Given the description of an element on the screen output the (x, y) to click on. 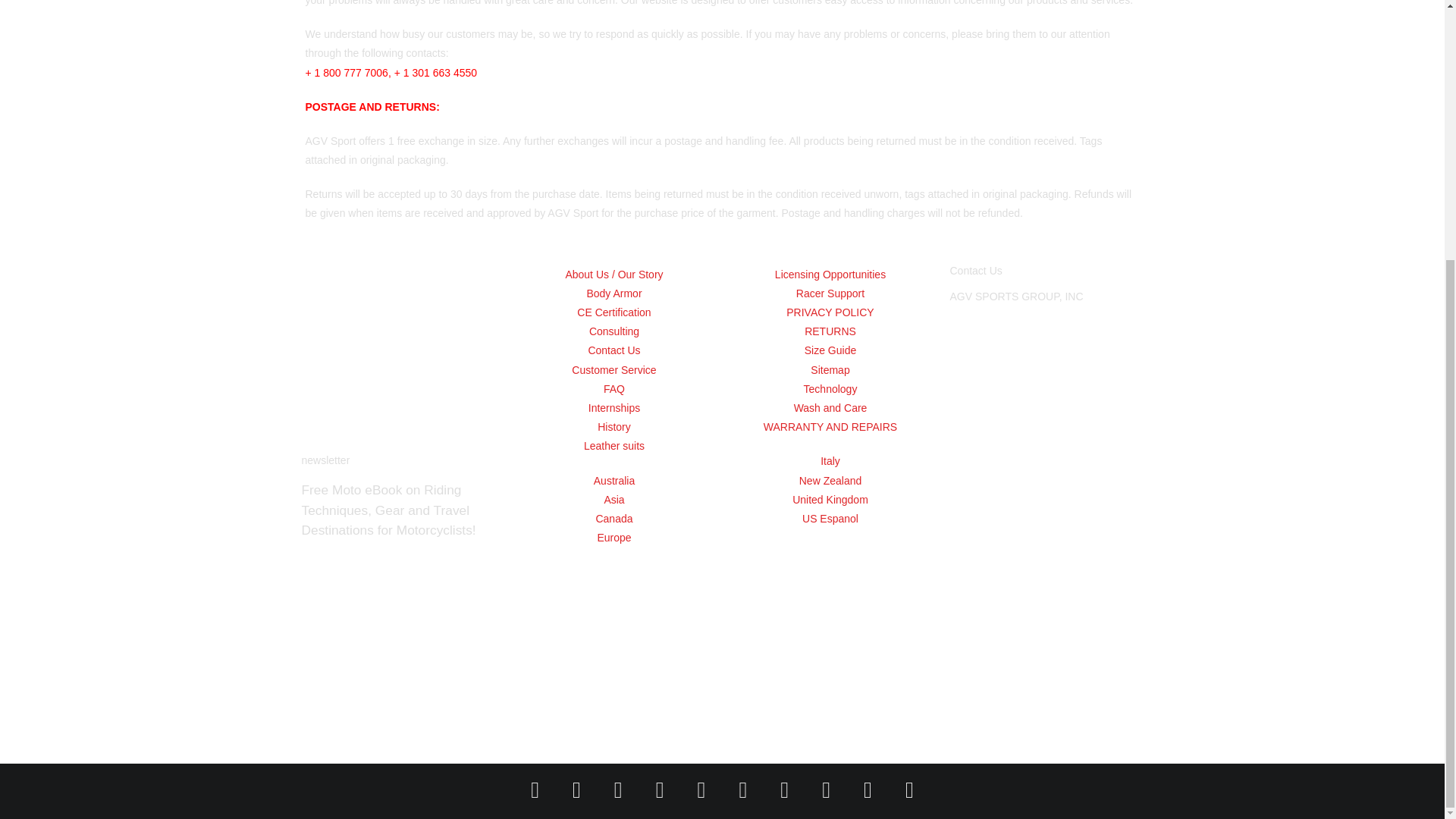
Europe (613, 537)
Consulting (613, 331)
AGV Sport Google My Business Listing (1045, 517)
Body Armor (613, 293)
Leather suits (613, 445)
Asia (613, 499)
Canada (613, 518)
Racer Support (830, 293)
FAQ (613, 389)
History (613, 426)
